Given the description of an element on the screen output the (x, y) to click on. 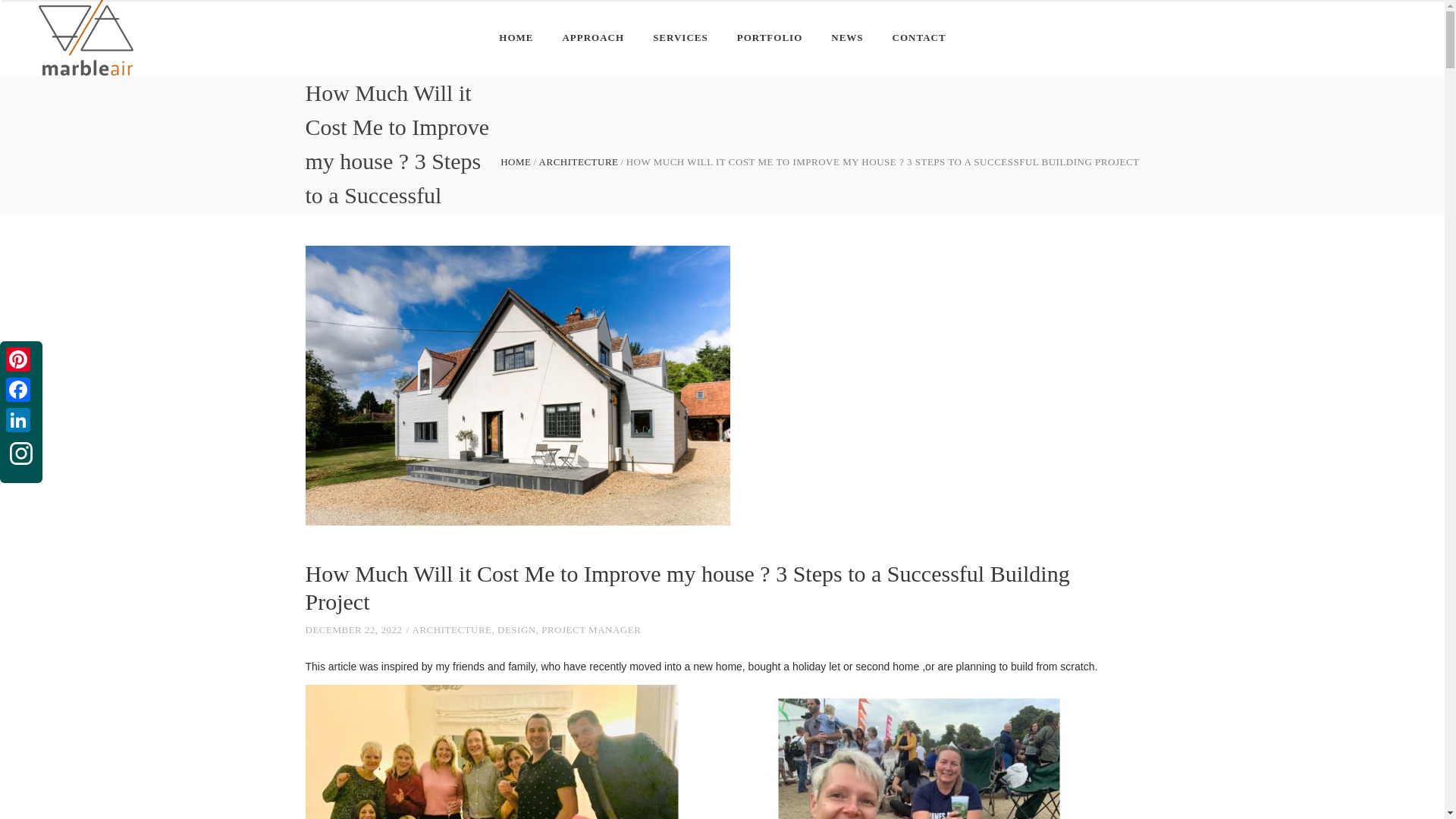
SERVICES (680, 38)
APPROACH (593, 38)
PORTFOLIO (769, 38)
HOME (515, 162)
DECEMBER 22, 2022 (352, 629)
CONTACT (918, 38)
LinkedIn (20, 419)
DESIGN (516, 629)
ARCHITECTURE (452, 629)
Pinterest (20, 358)
